Given the description of an element on the screen output the (x, y) to click on. 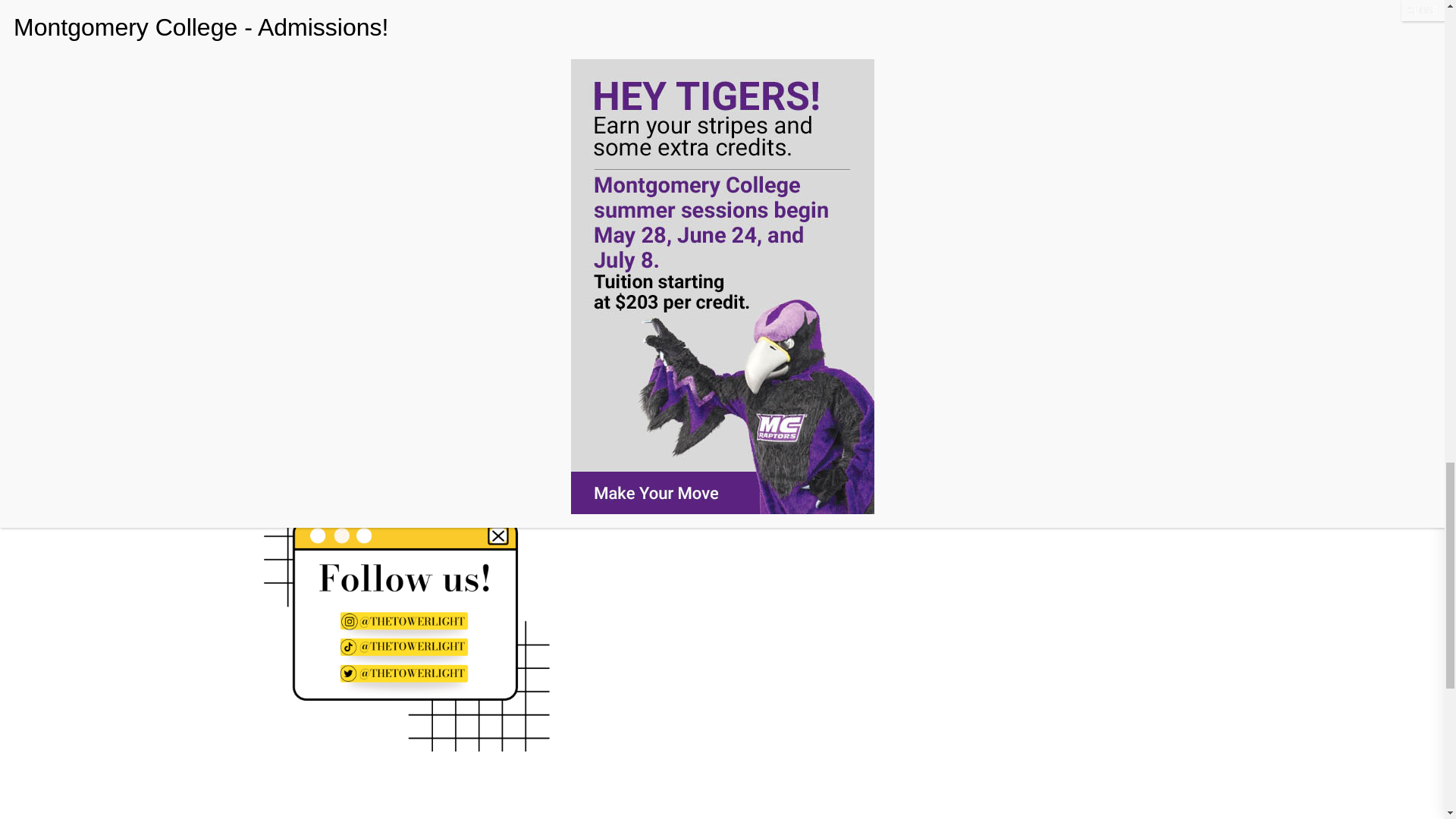
Click to share on Twitter (681, 250)
All posts by Towerlight News (702, 301)
Click to share on Facebook (651, 250)
